Given the description of an element on the screen output the (x, y) to click on. 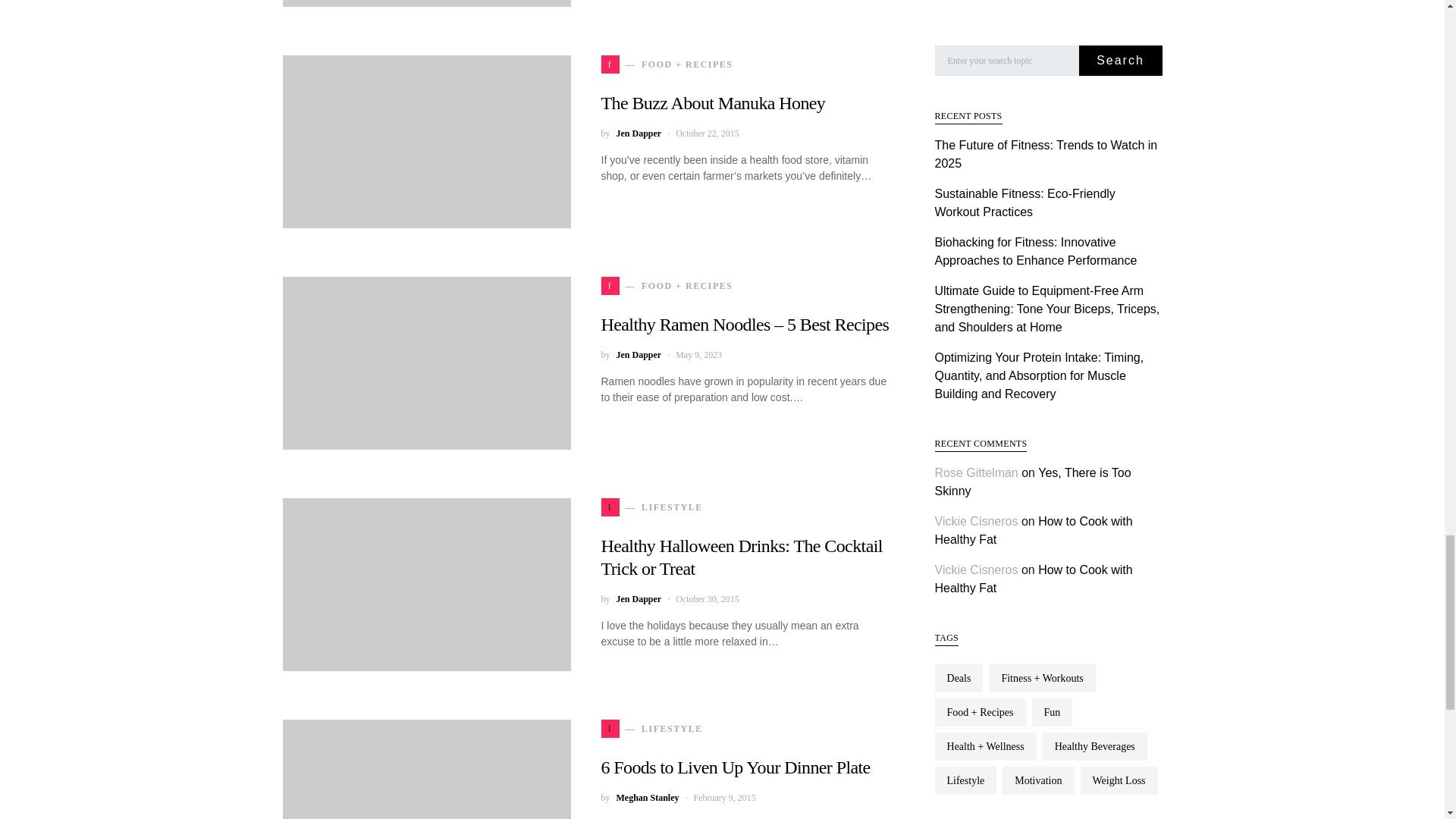
View all posts by Jen Dapper (638, 354)
View all posts by Jen Dapper (638, 599)
View all posts by Meghan Stanley (646, 797)
View all posts by Jen Dapper (638, 133)
